Given the description of an element on the screen output the (x, y) to click on. 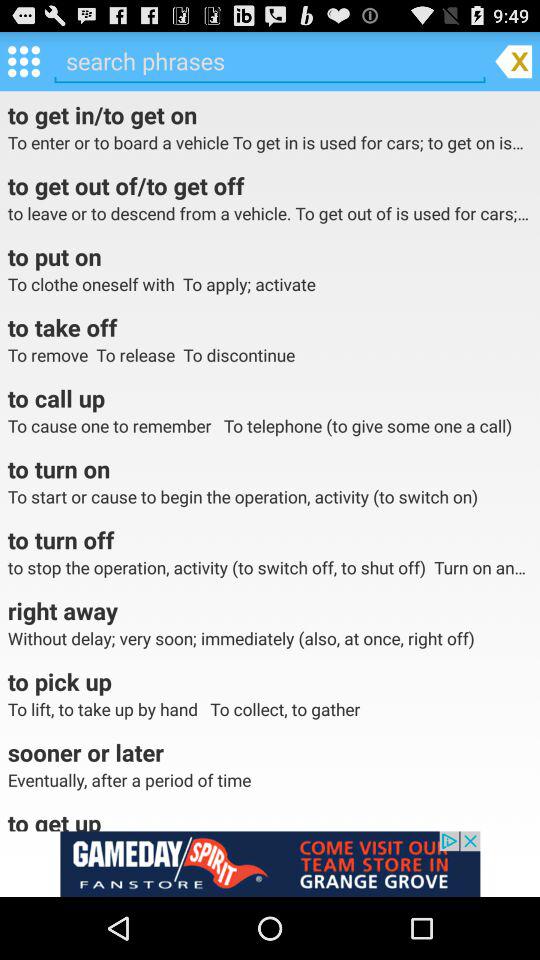
begin a search (269, 61)
